Given the description of an element on the screen output the (x, y) to click on. 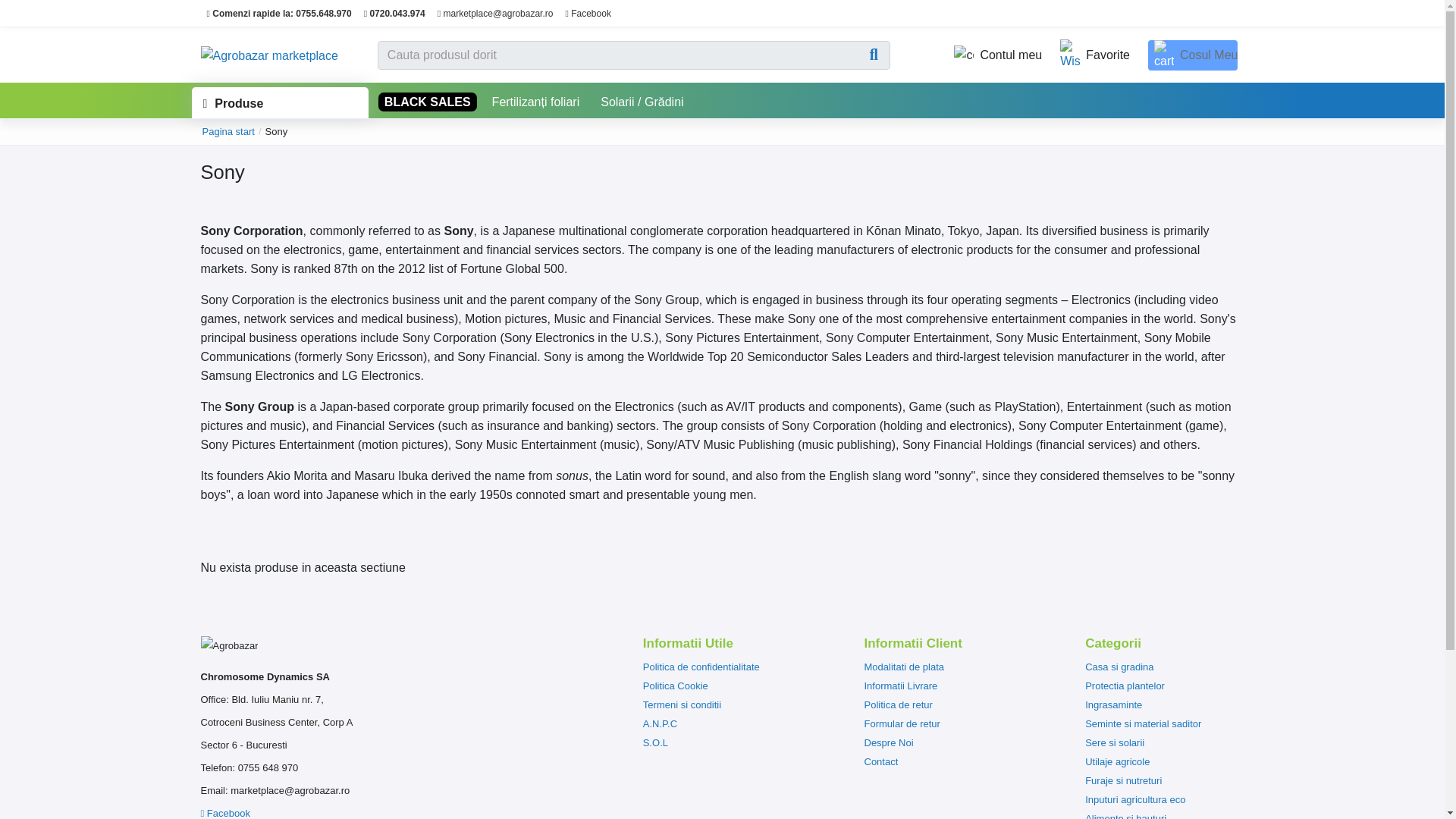
search (876, 55)
Agrobazar marketplace (268, 53)
Facebook (587, 13)
Comenzi rapide la: 0755.648.970 (278, 13)
Favorite (1091, 54)
Cosul Meu (1192, 54)
0720.043.974 (394, 13)
Wishlist (1091, 54)
BLACK SALES (427, 101)
